Given the description of an element on the screen output the (x, y) to click on. 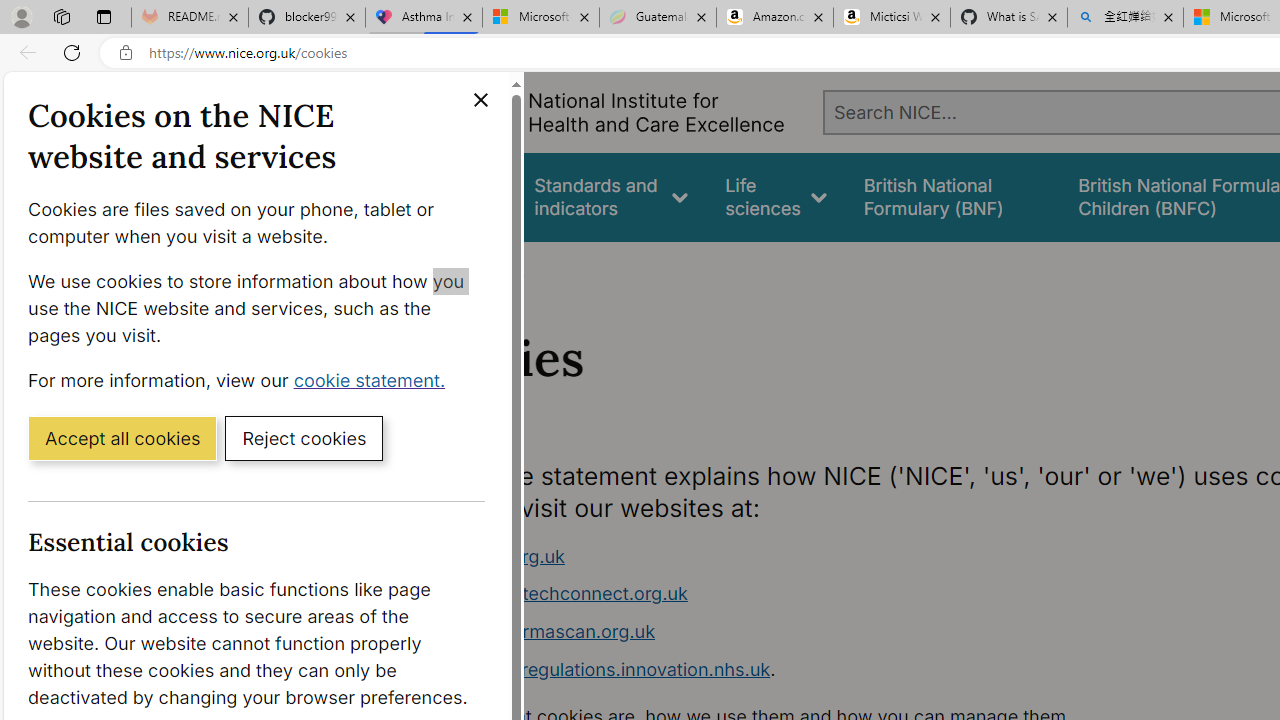
www.ukpharmascan.org.uk (796, 632)
Life sciences (776, 196)
Home> (433, 268)
www.nice.org.uk (492, 556)
Life sciences (776, 196)
Guidance (458, 196)
www.healthtechconnect.org.uk (796, 594)
www.digitalregulations.innovation.nhs.uk. (796, 669)
